Given the description of an element on the screen output the (x, y) to click on. 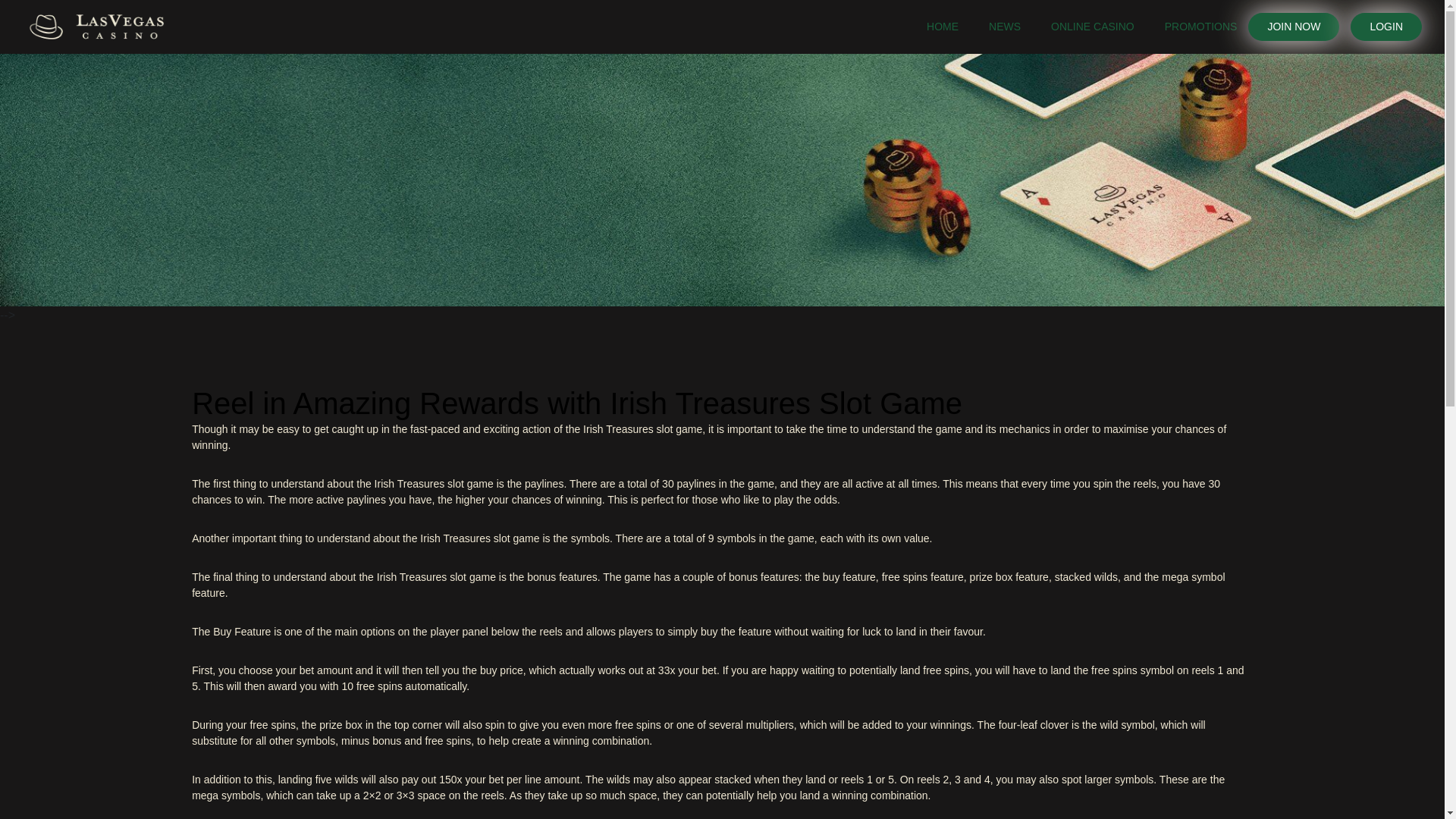
PROMOTIONS (1200, 26)
NEWS (1004, 26)
login (1386, 26)
JOIN NOW (1293, 26)
ONLINE CASINO (1092, 26)
Join Now (1293, 26)
HOME (942, 26)
LOGIN (1386, 26)
